Given the description of an element on the screen output the (x, y) to click on. 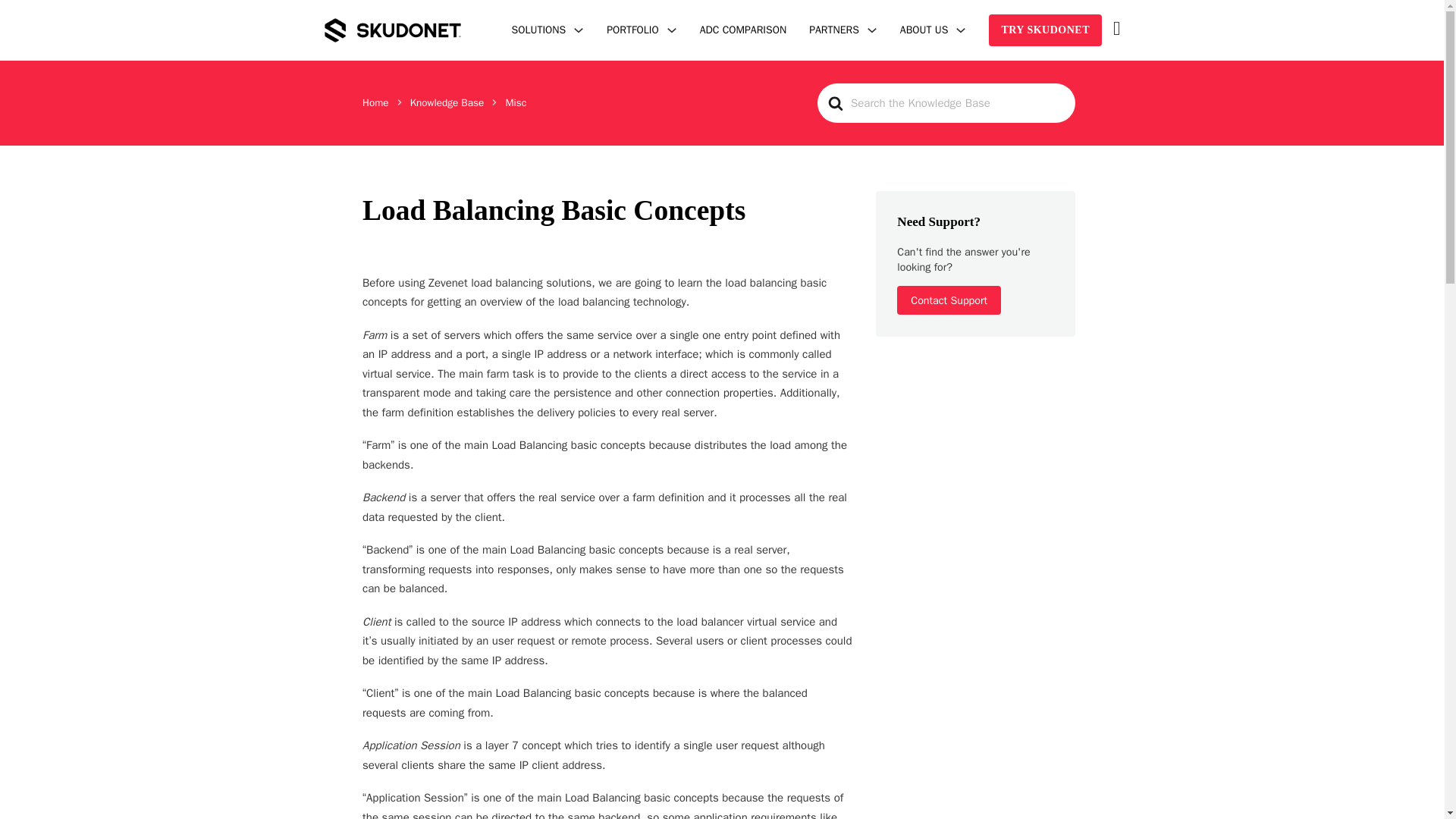
Load Balancing Catalog (633, 30)
PORTFOLIO (633, 30)
ADC COMPARISON (743, 30)
SOLUTIONS (539, 30)
PARTNERS (834, 30)
ABOUT US (924, 30)
